Given the description of an element on the screen output the (x, y) to click on. 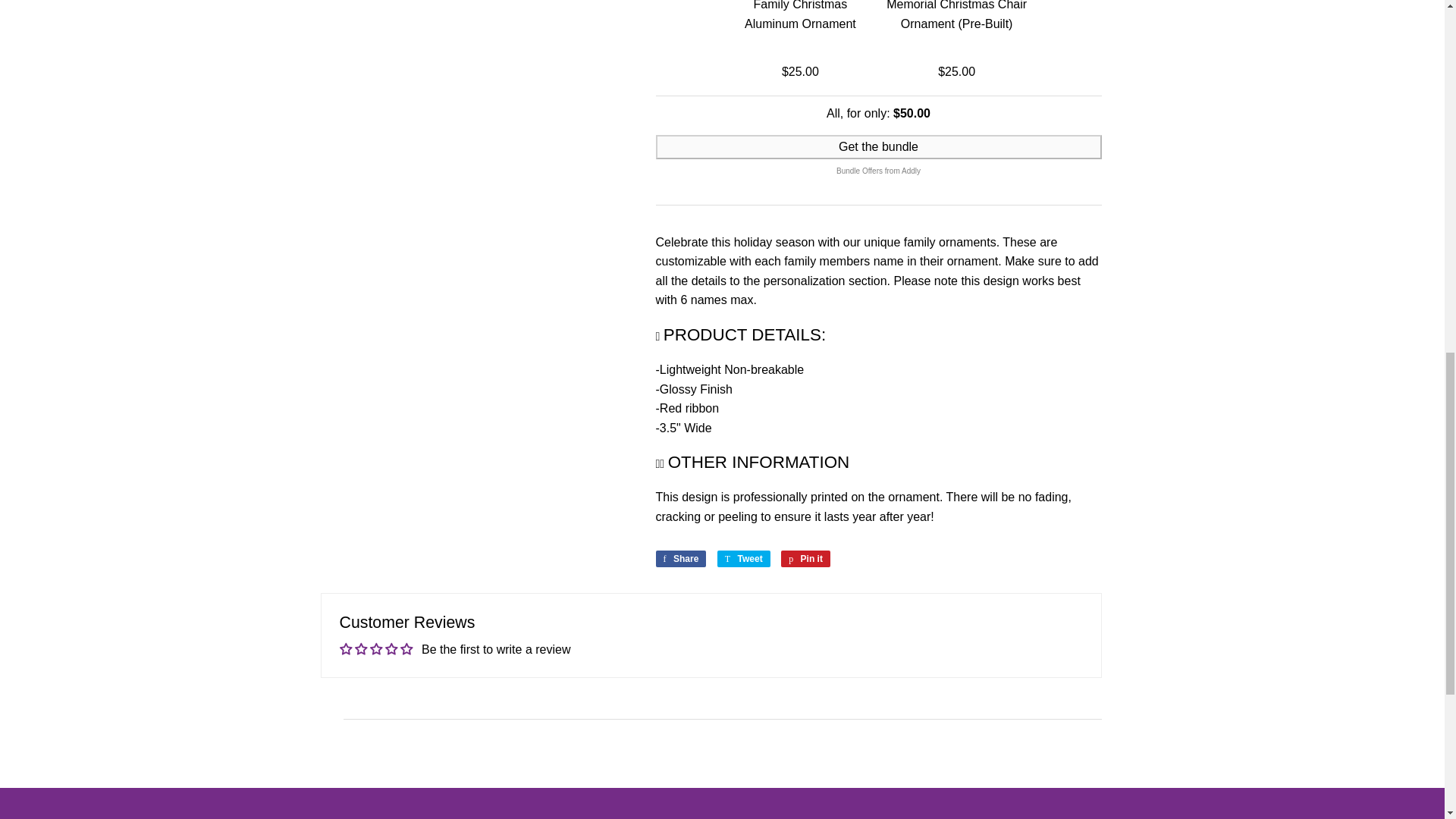
Share on Facebook (680, 558)
Tweet on Twitter (743, 558)
Pin on Pinterest (804, 558)
